Given the description of an element on the screen output the (x, y) to click on. 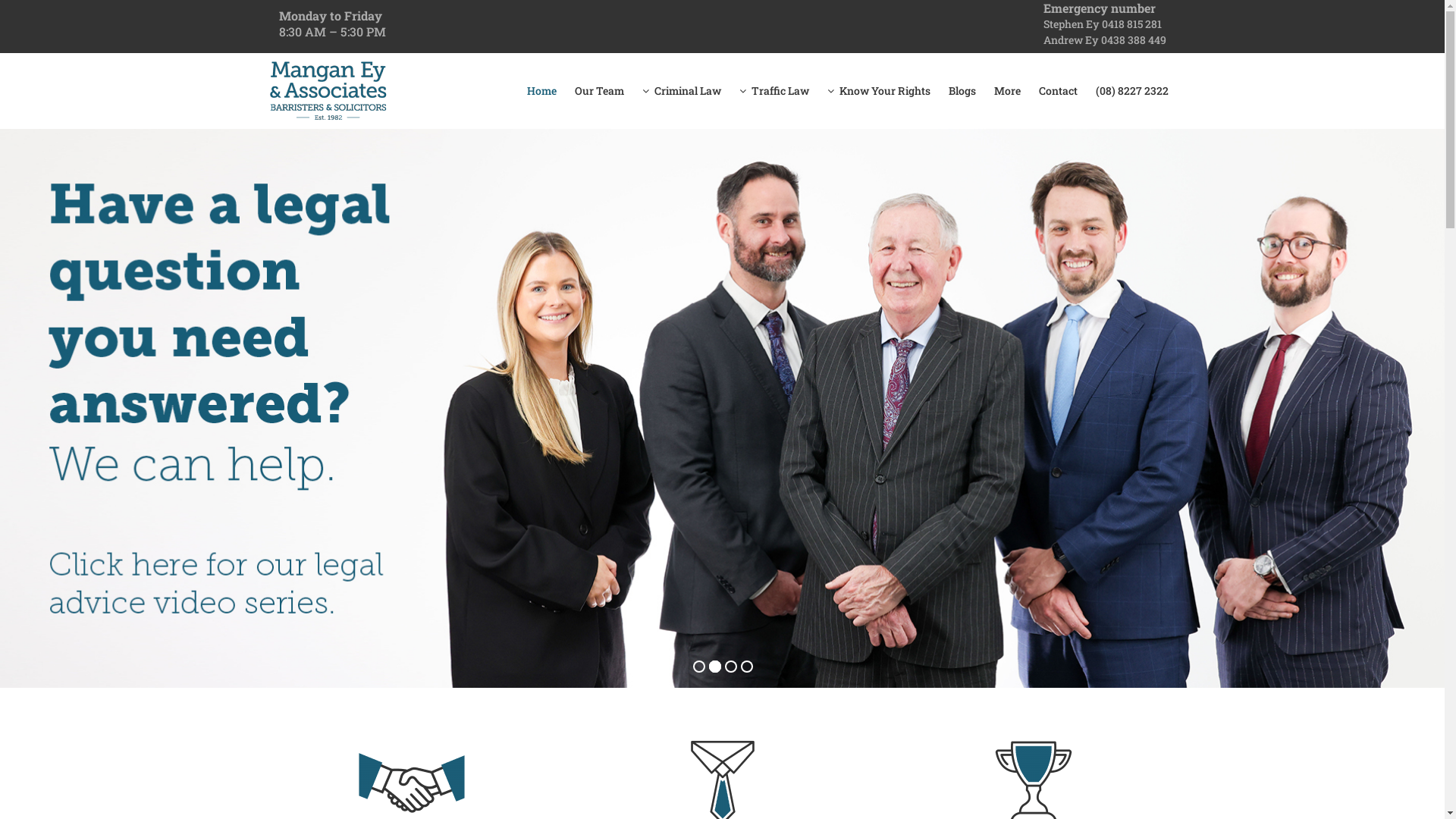
Know Your Rights Element type: text (877, 90)
Contact Element type: text (1057, 90)
0438 388 449 Element type: text (1133, 39)
Our Team Element type: text (599, 90)
Criminal Law Element type: text (680, 90)
Blogs Element type: text (961, 90)
Home Element type: text (540, 90)
(08) 8227 2322 Element type: text (1130, 90)
Traffic Law Element type: text (773, 90)
0418 815 281 Element type: text (1131, 23)
More Element type: text (1006, 90)
